Given the description of an element on the screen output the (x, y) to click on. 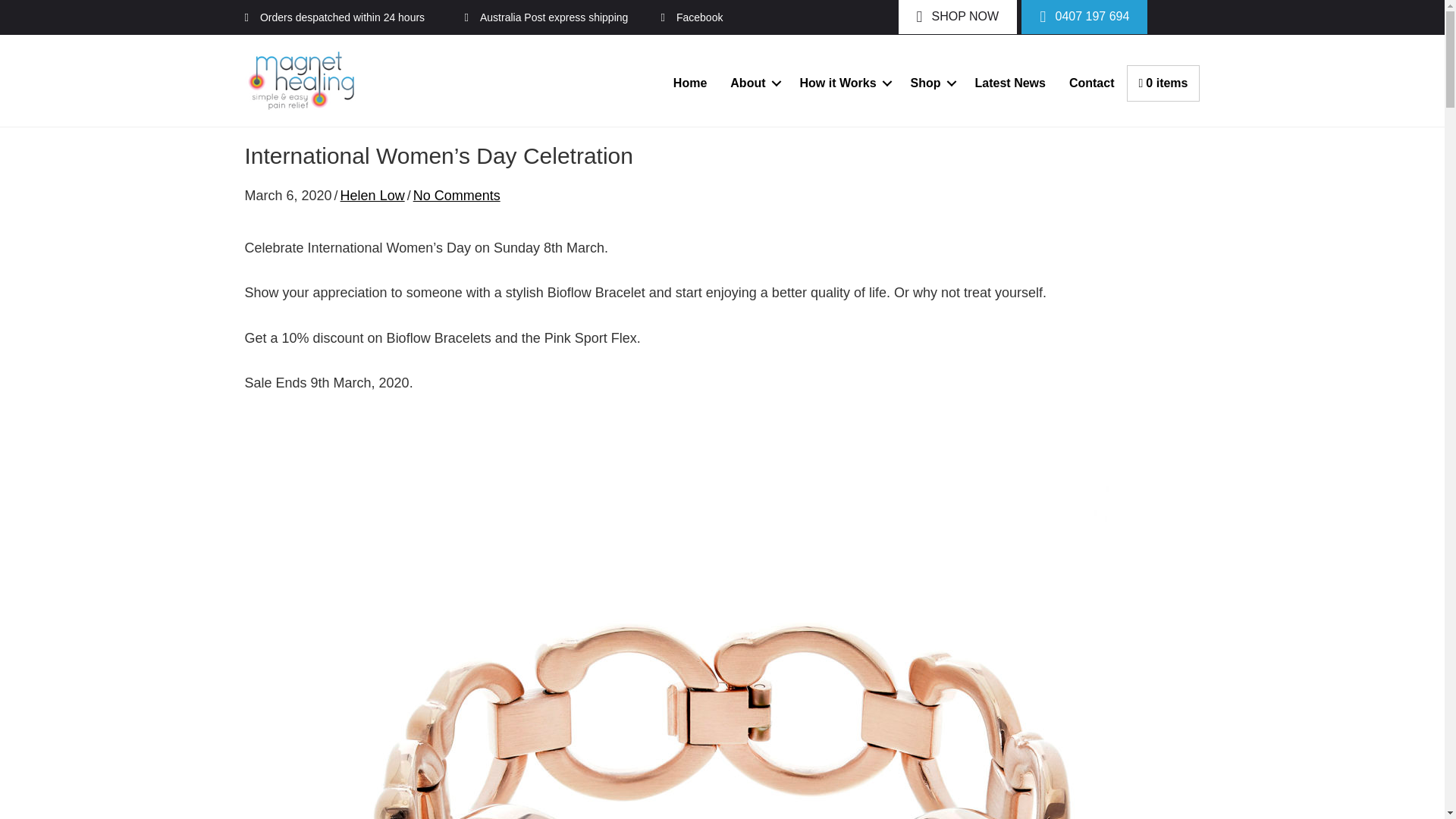
Contact (1091, 82)
0 items (1162, 83)
logo (301, 80)
Shop (930, 82)
0407 197 694 (1084, 17)
Latest News (1010, 82)
No Comments (456, 195)
Start shopping (1162, 83)
Home (689, 82)
